Given the description of an element on the screen output the (x, y) to click on. 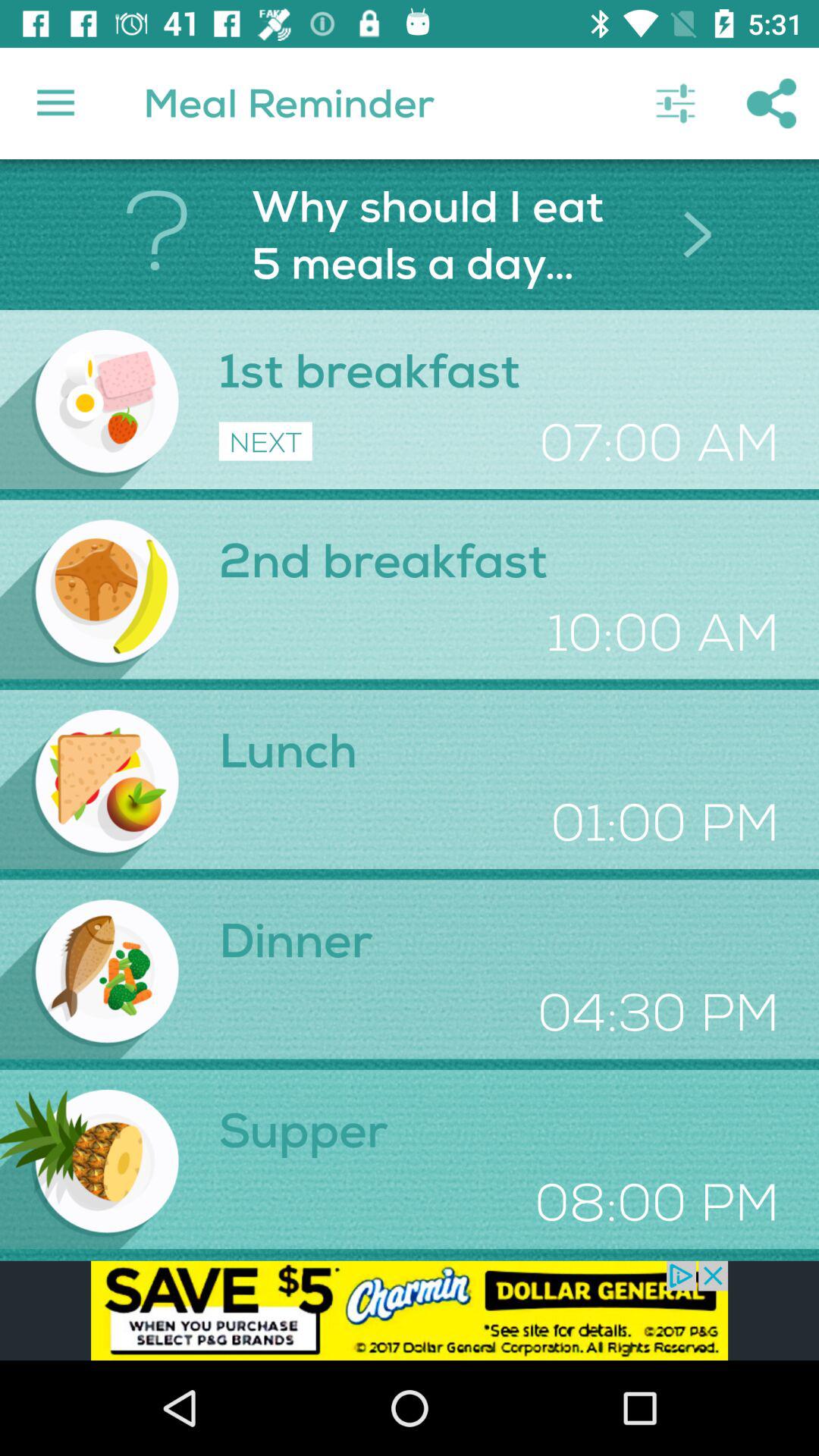
click on advertisement (409, 1310)
